Given the description of an element on the screen output the (x, y) to click on. 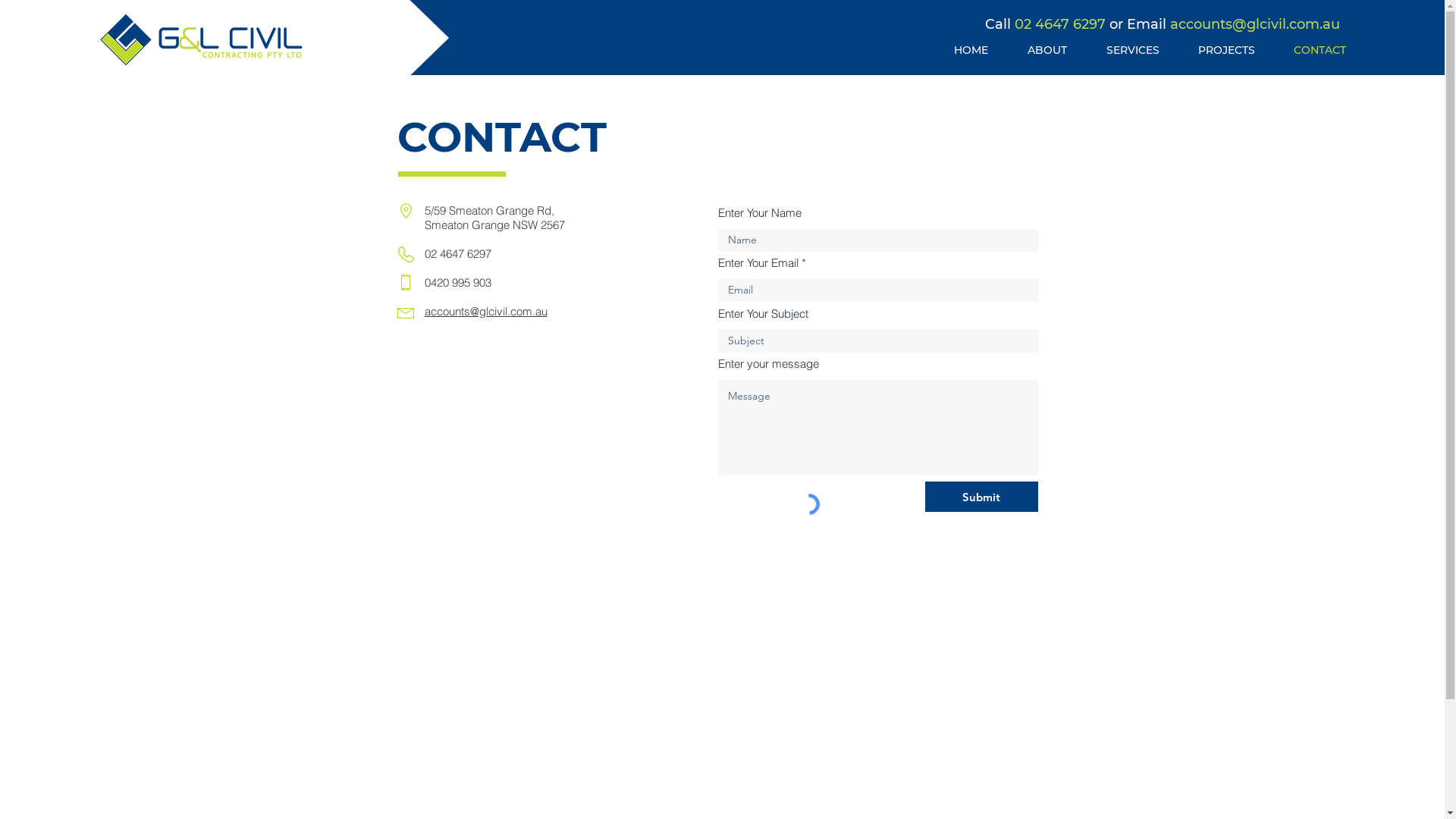
PROJECTS Element type: text (1226, 50)
Submit Element type: text (981, 496)
HOME Element type: text (970, 50)
ABOUT Element type: text (1046, 50)
accounts@glcivil.com.au Element type: text (485, 311)
accounts@glcivil.com.au Element type: text (1254, 23)
CONTACT Element type: text (1319, 50)
SERVICES Element type: text (1132, 50)
02 4647 6297 Element type: text (1059, 23)
